Given the description of an element on the screen output the (x, y) to click on. 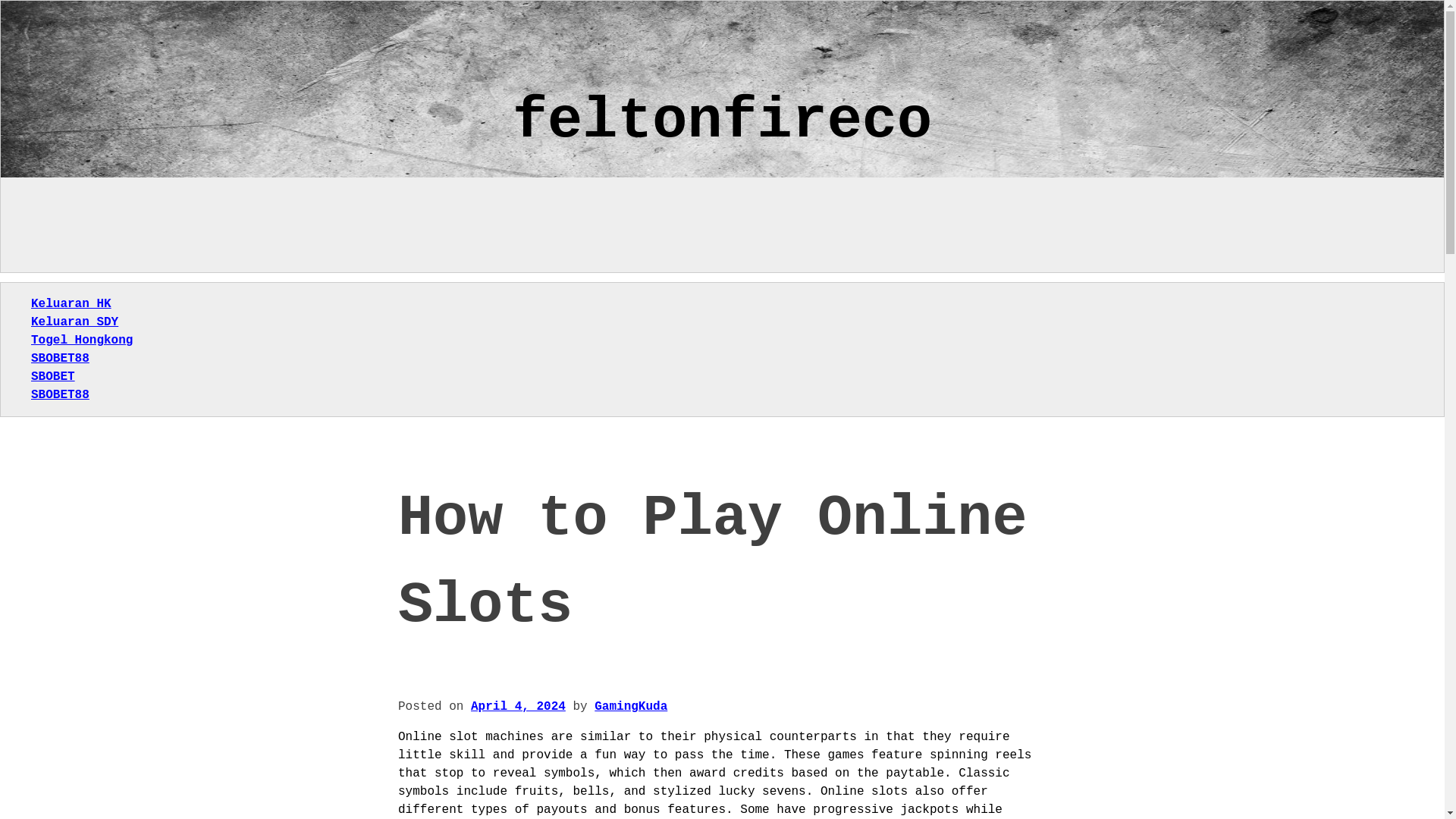
SBOBET88 (59, 358)
Togel Hongkong (81, 340)
Keluaran HK (71, 304)
SBOBET (52, 377)
feltonfireco (721, 120)
April 4, 2024 (518, 706)
SBOBET88 (59, 395)
GamingKuda (630, 706)
Keluaran SDY (73, 322)
